Given the description of an element on the screen output the (x, y) to click on. 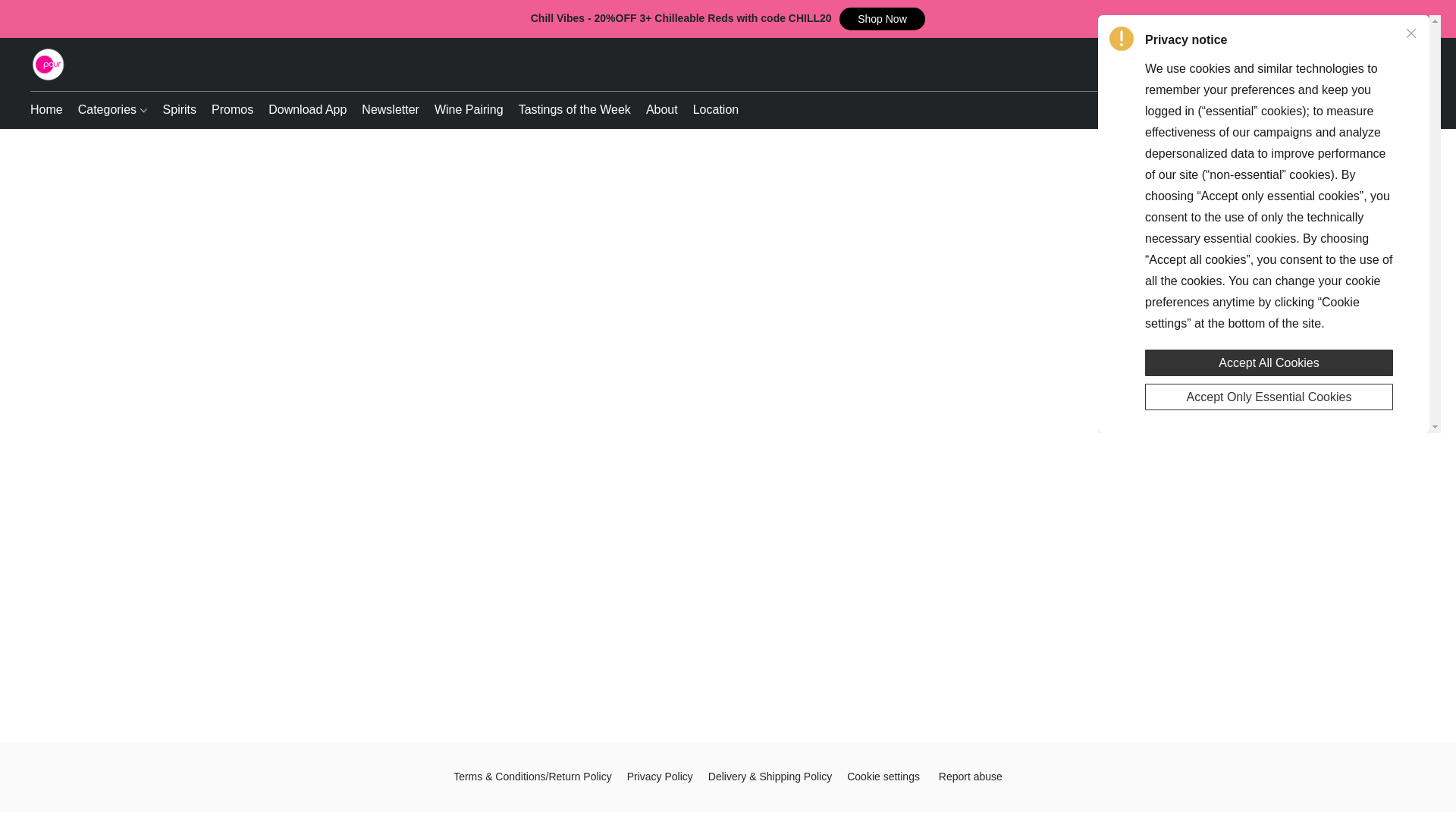
Tastings of the Week (575, 109)
Download App (306, 109)
Shop Now (883, 18)
Home (49, 109)
Promos (231, 109)
212-501-7687 (1259, 109)
Newsletter (389, 109)
Wine Pairing (468, 109)
About (662, 109)
Go to your shopping cart (1416, 64)
Accept All Cookies (1268, 361)
Spirits (179, 109)
Report abuse (971, 776)
Categories (112, 109)
Location (712, 109)
